Given the description of an element on the screen output the (x, y) to click on. 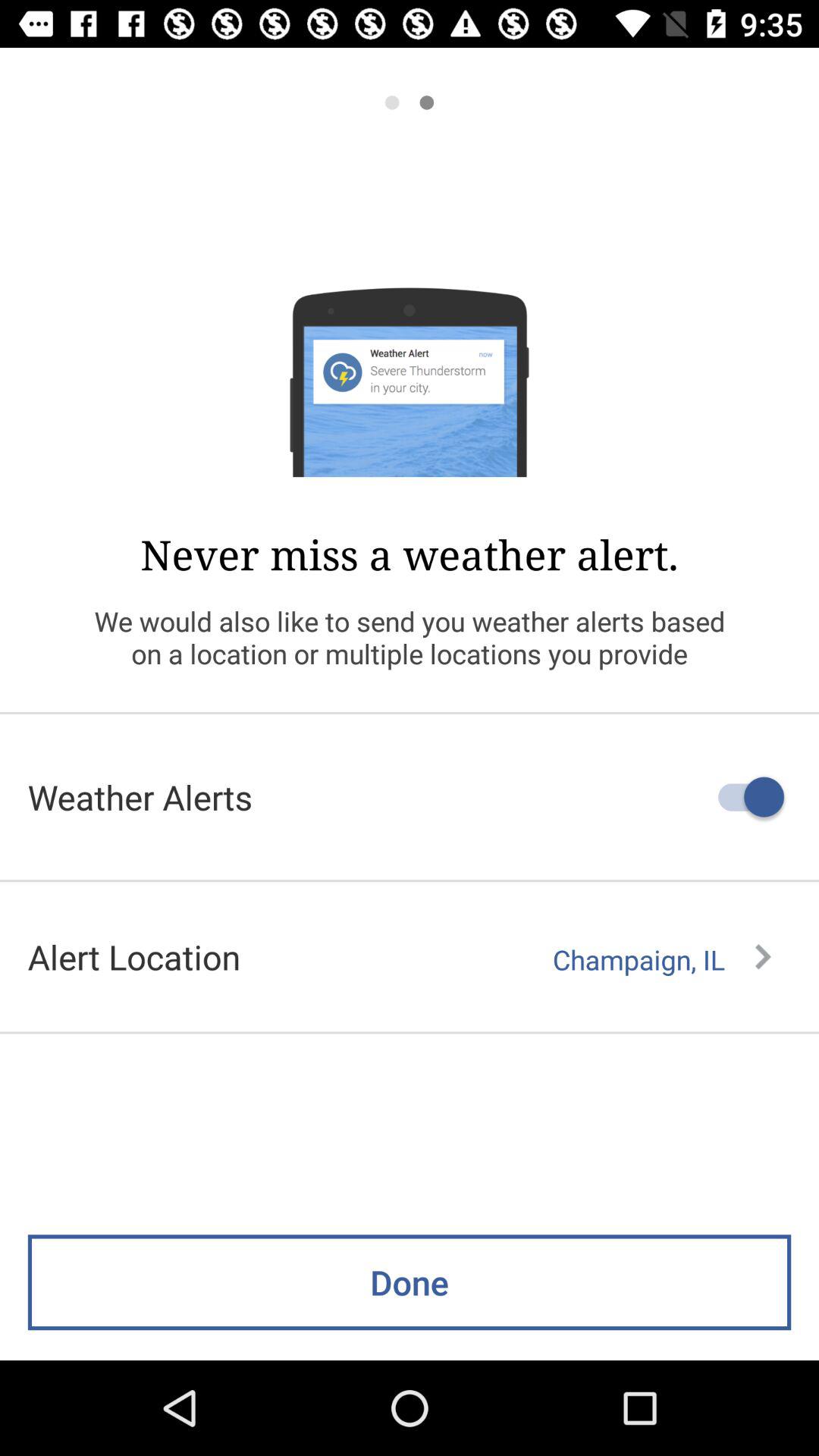
click the done (409, 1282)
